Given the description of an element on the screen output the (x, y) to click on. 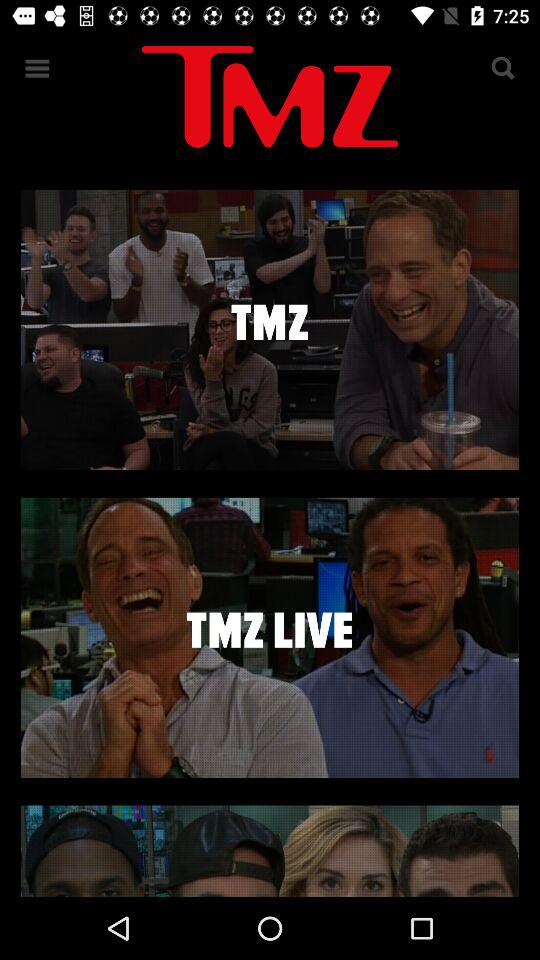
video selection (270, 329)
